Given the description of an element on the screen output the (x, y) to click on. 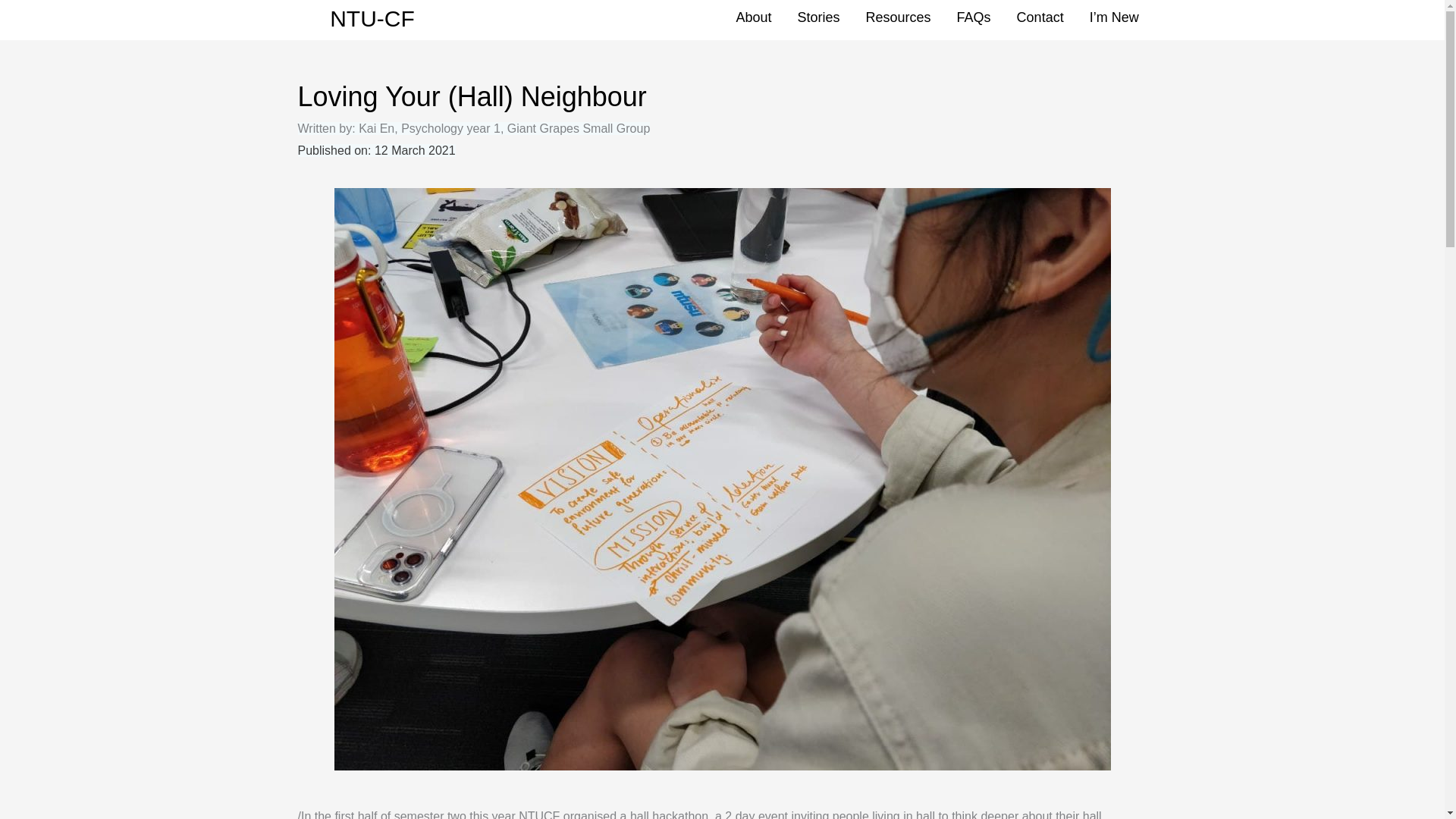
Contact (1039, 17)
Stories (818, 17)
NTU-CF (372, 18)
Resources (898, 17)
About (753, 17)
FAQs (973, 17)
